Given the description of an element on the screen output the (x, y) to click on. 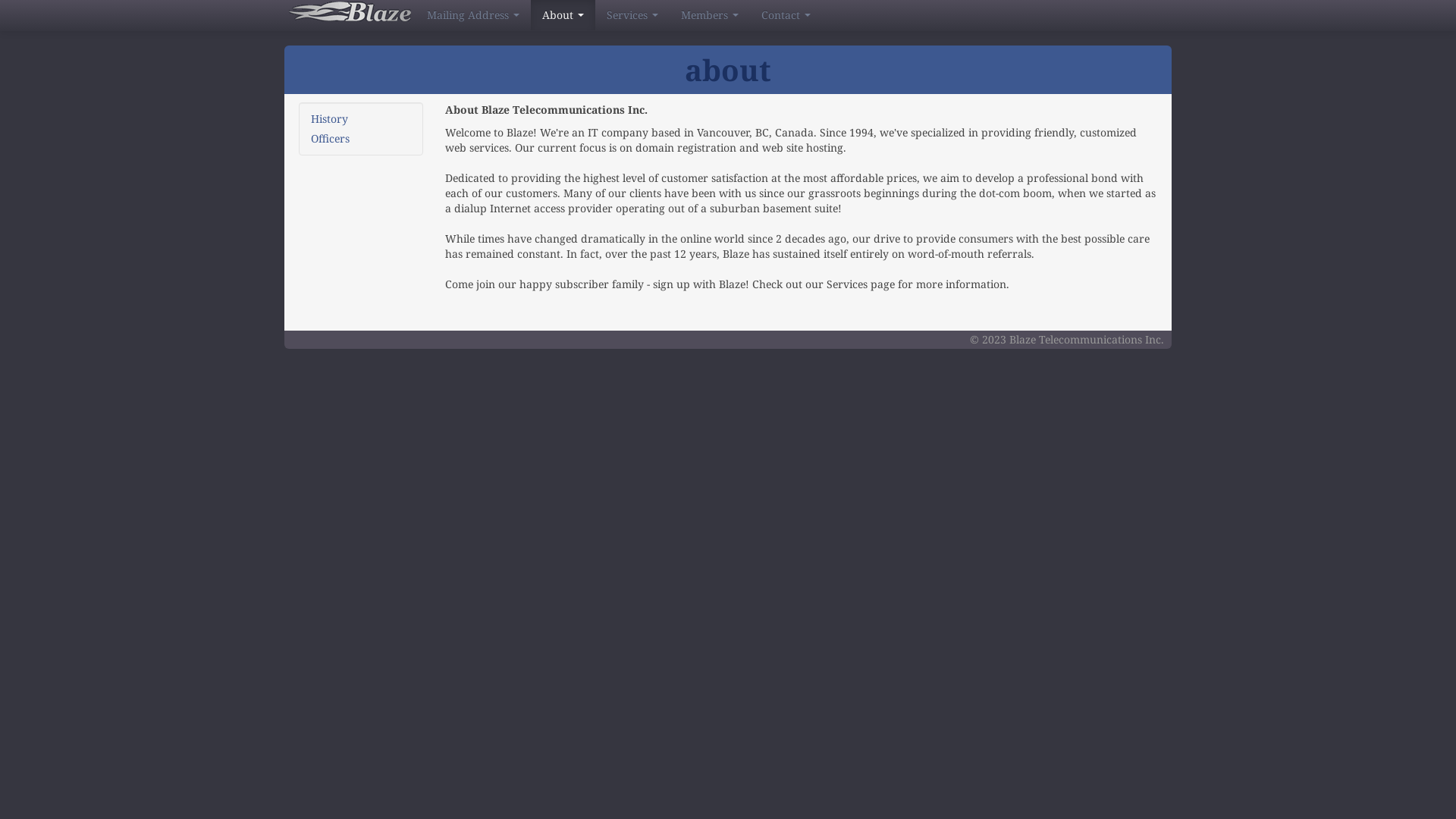
Contact Element type: text (785, 15)
About Element type: text (562, 15)
History Element type: text (360, 118)
Mailing Address Element type: text (472, 15)
Members Element type: text (709, 15)
Officers Element type: text (360, 138)
Services Element type: text (632, 15)
